Given the description of an element on the screen output the (x, y) to click on. 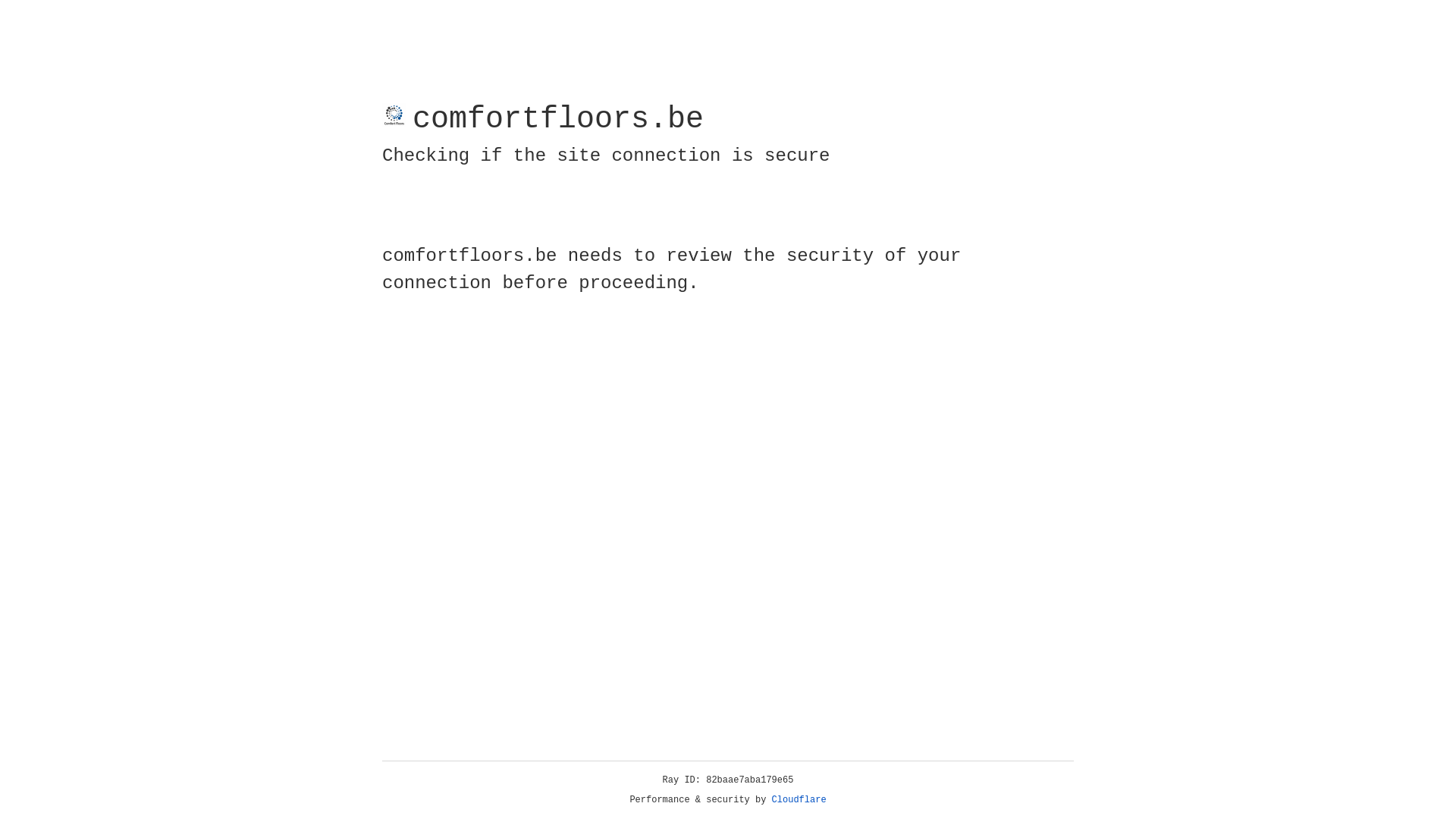
Cloudflare Element type: text (798, 799)
